Given the description of an element on the screen output the (x, y) to click on. 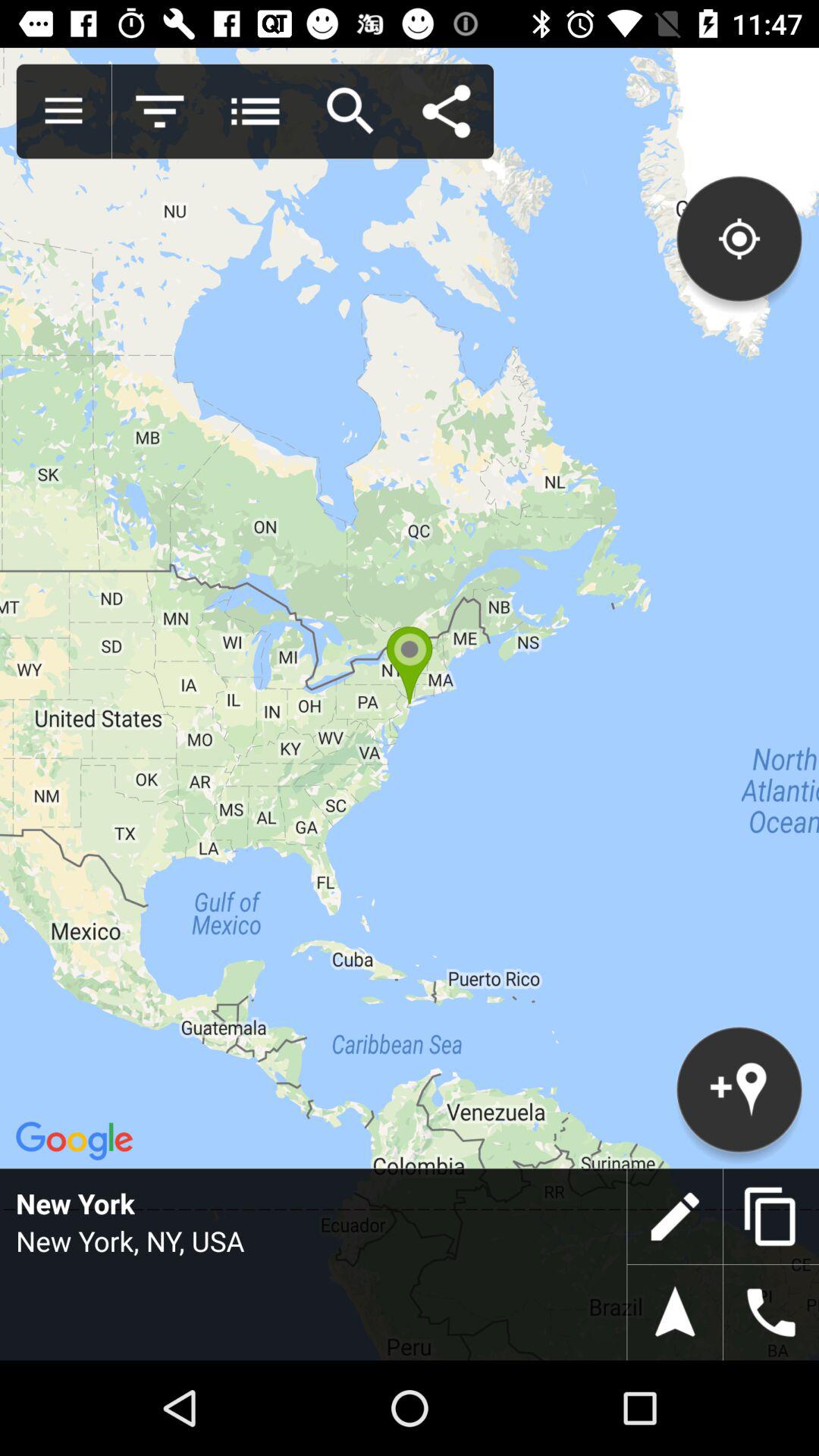
search for location (350, 111)
